Given the description of an element on the screen output the (x, y) to click on. 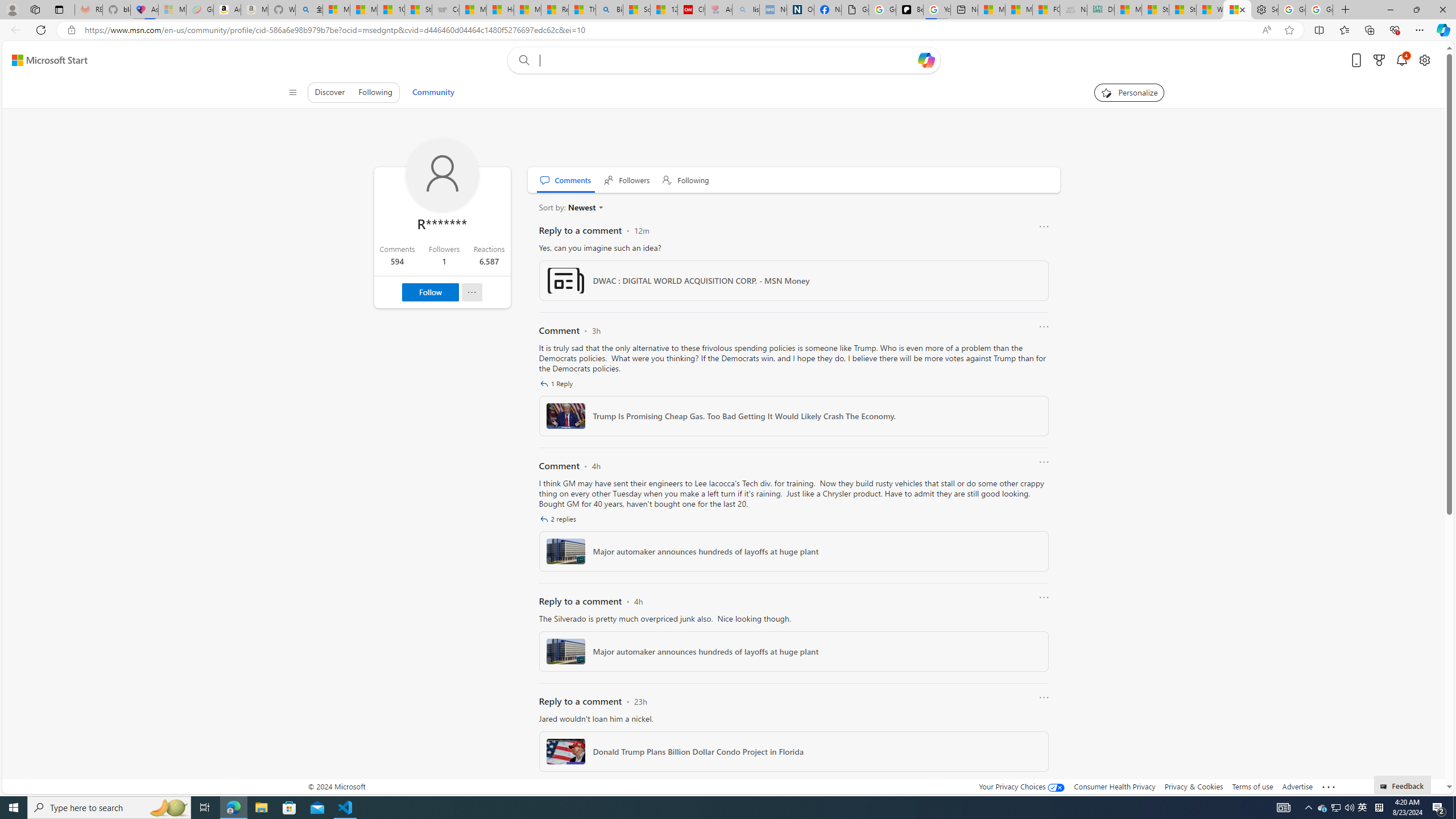
Class: control icon-only (292, 92)
Personalize your feed" (1129, 92)
